Given the description of an element on the screen output the (x, y) to click on. 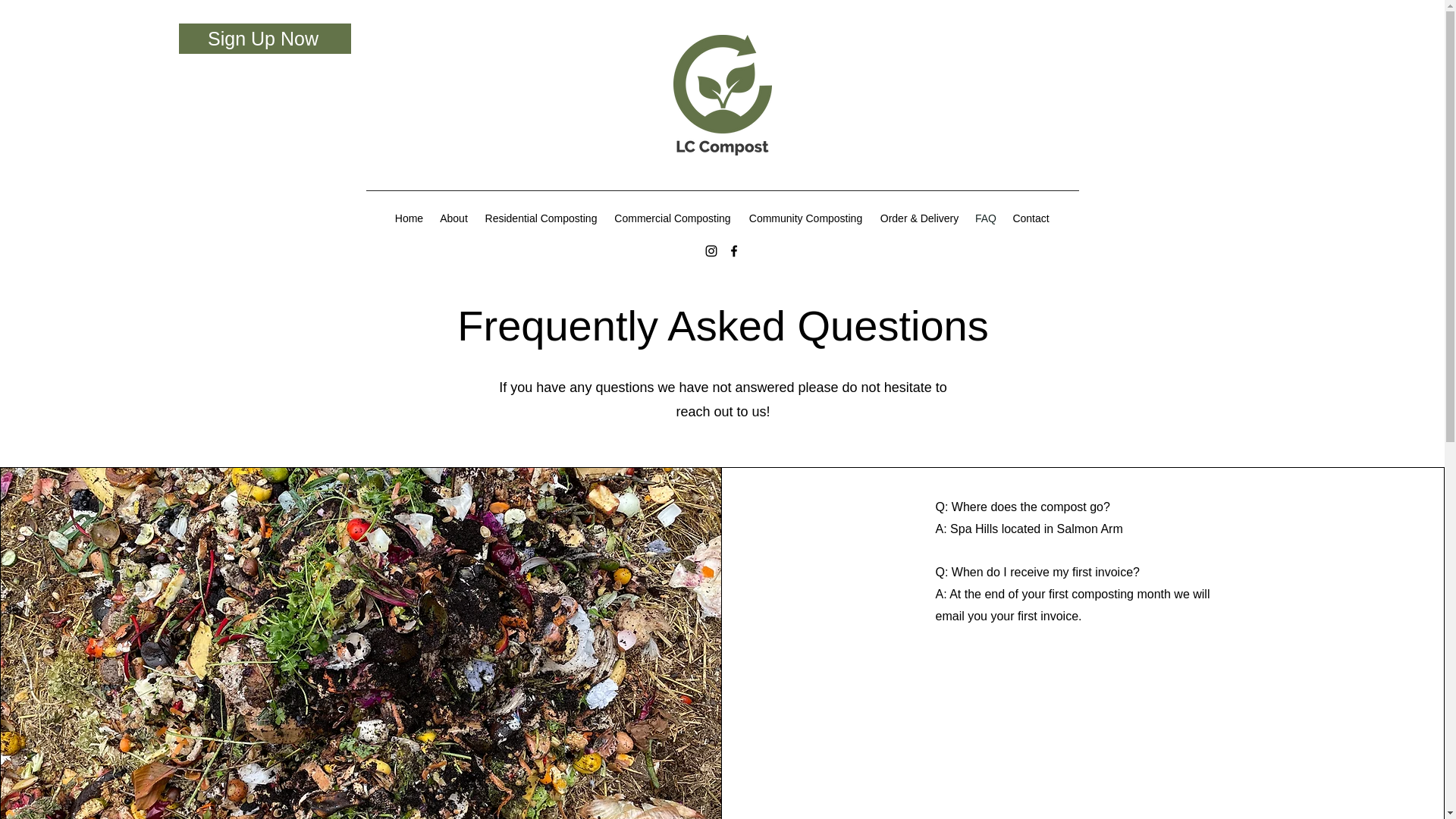
Commercial Composting (672, 218)
FAQ (986, 218)
Community Composting (805, 218)
Home (408, 218)
About (453, 218)
Sign Up Now (264, 38)
Contact (1030, 218)
Residential Composting (540, 218)
